Given the description of an element on the screen output the (x, y) to click on. 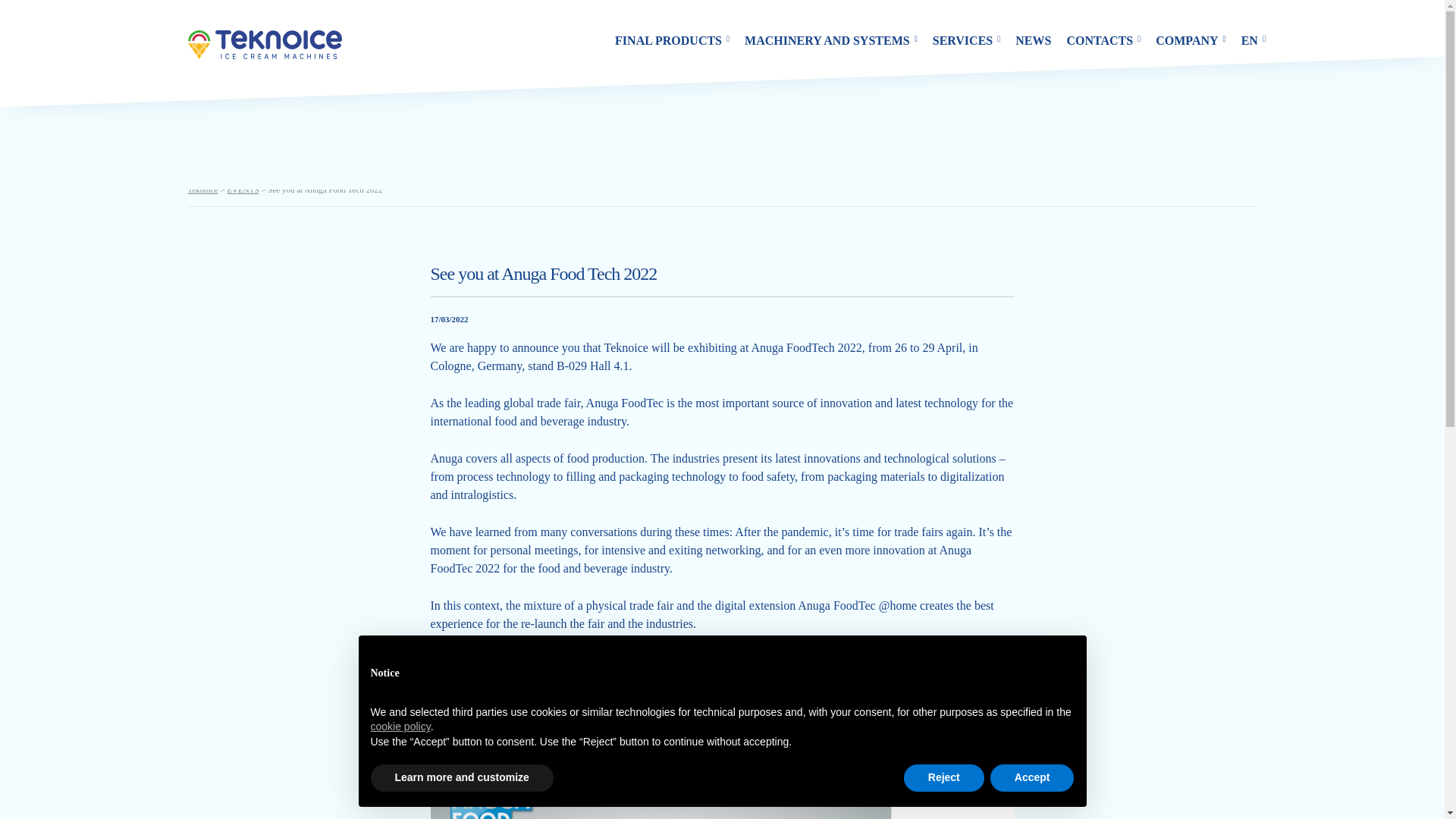
EN (1252, 40)
Go to Teknoice. (202, 189)
CONTACTS (1103, 40)
NEWS (1032, 40)
COMPANY (1190, 40)
SERVICES (965, 40)
FINAL PRODUCTS (671, 40)
MACHINERY AND SYSTEMS (830, 40)
Go to the EVENTS Category archives. (243, 189)
